Given the description of an element on the screen output the (x, y) to click on. 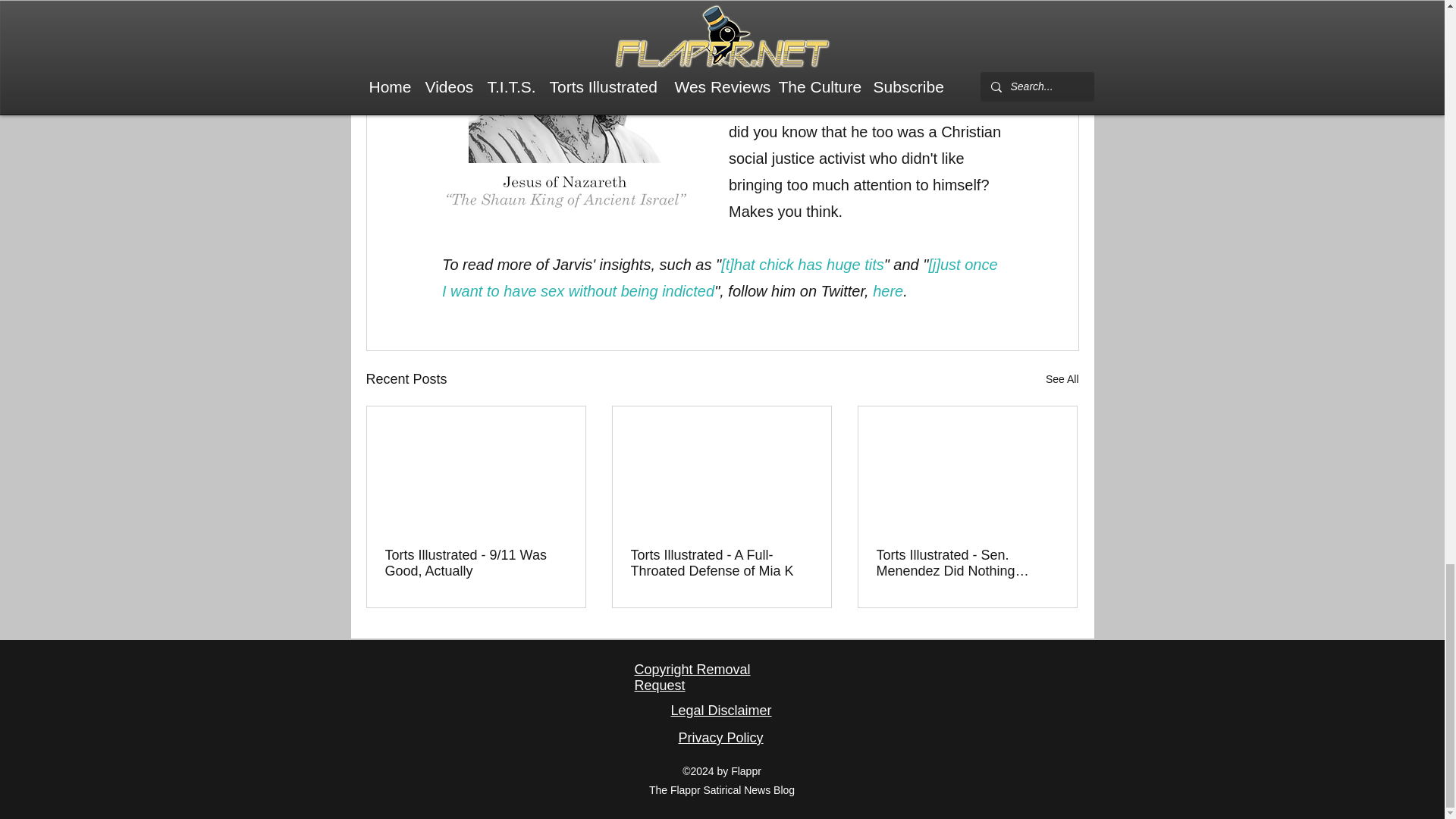
hat chick has huge tits (808, 264)
Privacy Policy (720, 737)
here (887, 290)
Legal Disclaimer (720, 710)
Copyright Removal Request (691, 676)
Torts Illustrated - Sen. Menendez Did Nothing Wrong (967, 563)
See All (1061, 379)
Torts Illustrated - A Full-Throated Defense of Mia K (721, 563)
